Given the description of an element on the screen output the (x, y) to click on. 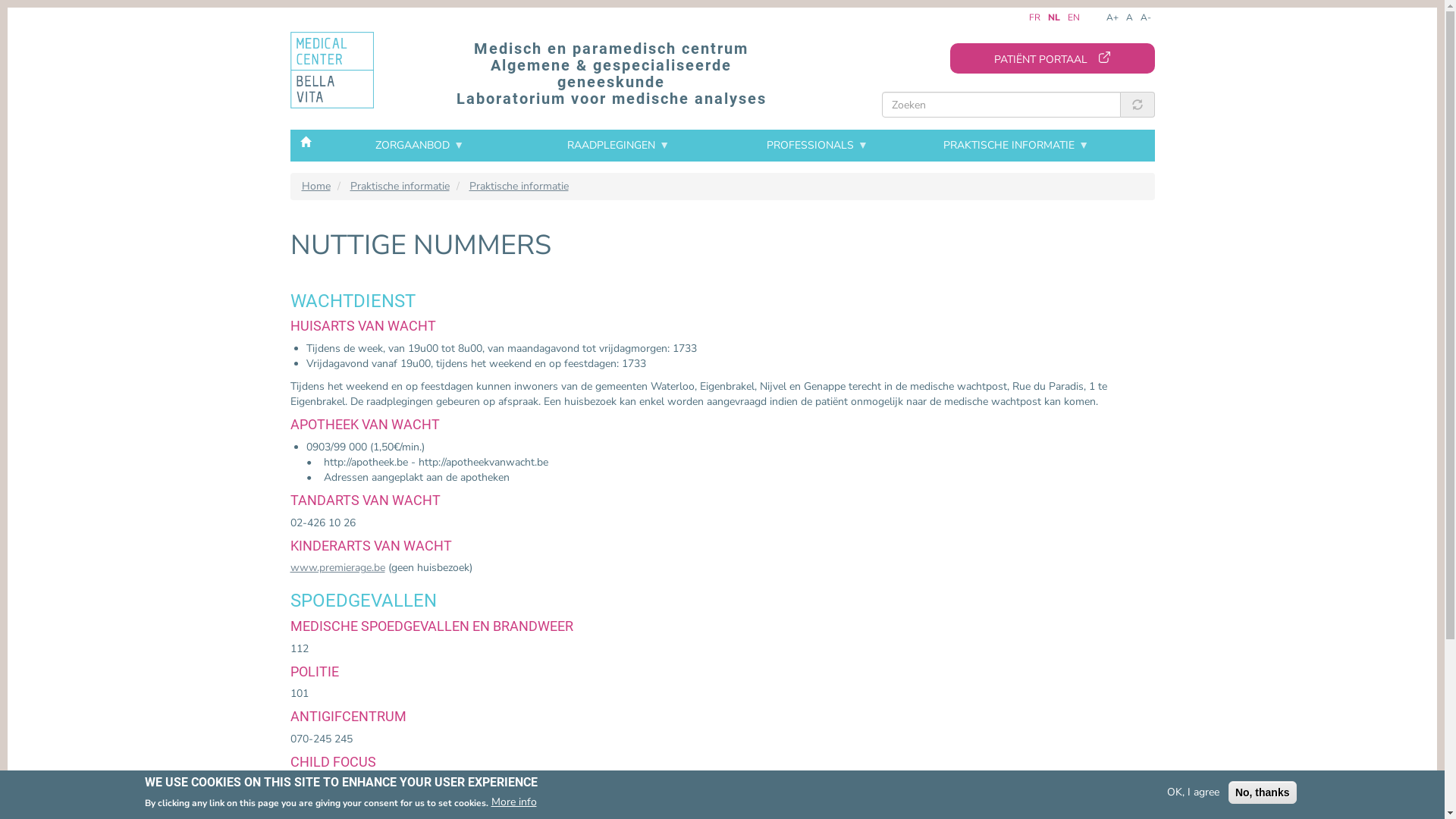
MULTIDISCIPLINAIRE KLINIEKEN Element type: text (387, 363)
DIALYSECENTRUM Element type: text (387, 344)
ONZE ARTSEN EN ZORGVERLENERS Element type: text (387, 244)
PERS EN COMMUNICATIE Element type: text (387, 372)
WERKEN IN HET BELLA VITA MEDICAL CENTER Element type: text (387, 249)
PRAKTISCHE INFORMATIE Element type: text (1015, 145)
LABORATORIUM VOOR MEDISCHE ANALYSES Element type: text (387, 321)
RAADPLEGINGEN Element type: text (618, 145)
EN Element type: text (1073, 17)
ZORGAANBOD Element type: text (386, 205)
Home Element type: text (315, 185)
CONTACTEER ONS Element type: text (387, 354)
ZORGAANBOD Element type: text (419, 145)
Overslaan en naar de inhoud gaan Element type: text (7, 11)
www.premierage.be Element type: text (336, 567)
PARAMEDISCH Element type: text (387, 299)
HUISARTSEN Element type: text (387, 263)
VEELGESTELDE VRAGEN Element type: text (387, 335)
NL Element type: text (1054, 17)
Praktische informatie Element type: text (517, 185)
No, thanks Element type: text (1262, 792)
More info Element type: text (513, 801)
PROFESSIONALS Element type: text (817, 145)
FR Element type: text (1033, 17)
OK, I agree Element type: text (1193, 792)
GESPECIALISEERDE GENEESKUNDE Element type: text (387, 281)
PRIVACYBELEID Element type: text (387, 390)
HOME Element type: text (304, 140)
NUTTIGE NUMMERS Element type: text (387, 317)
Praktische informatie Element type: text (399, 185)
